Given the description of an element on the screen output the (x, y) to click on. 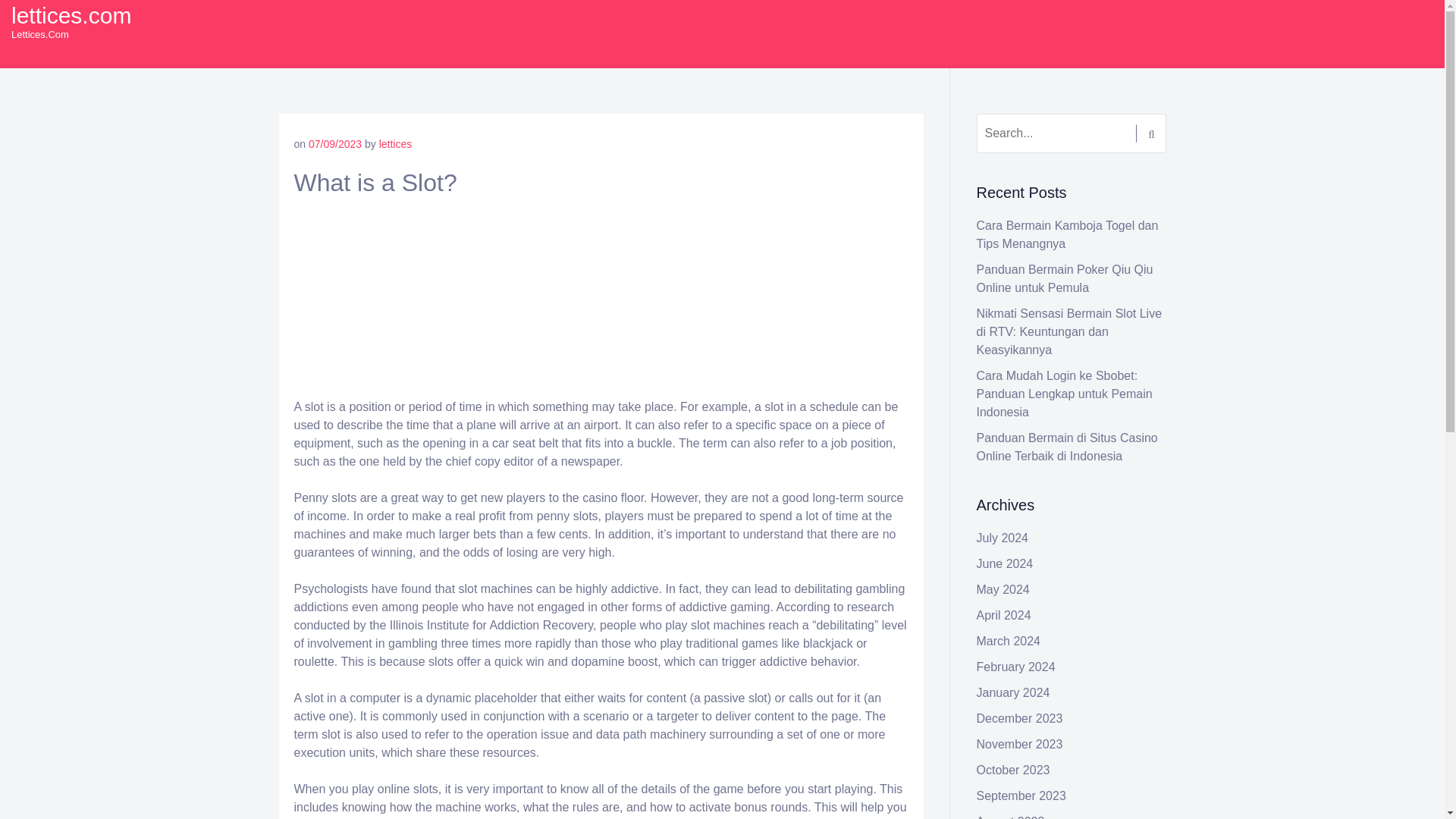
March 2024 (1008, 640)
May 2024 (1002, 589)
February 2024 (1015, 666)
lettices (395, 143)
Cara Bermain Kamboja Togel dan Tips Menangnya (1067, 234)
January 2024 (1012, 692)
December 2023 (1019, 717)
November 2023 (1019, 744)
August 2023 (1010, 816)
Panduan Bermain Poker Qiu Qiu Online untuk Pemula (1064, 278)
Panduan Bermain di Situs Casino Online Terbaik di Indonesia (1066, 446)
July 2024 (1002, 537)
April 2024 (1003, 615)
